Given the description of an element on the screen output the (x, y) to click on. 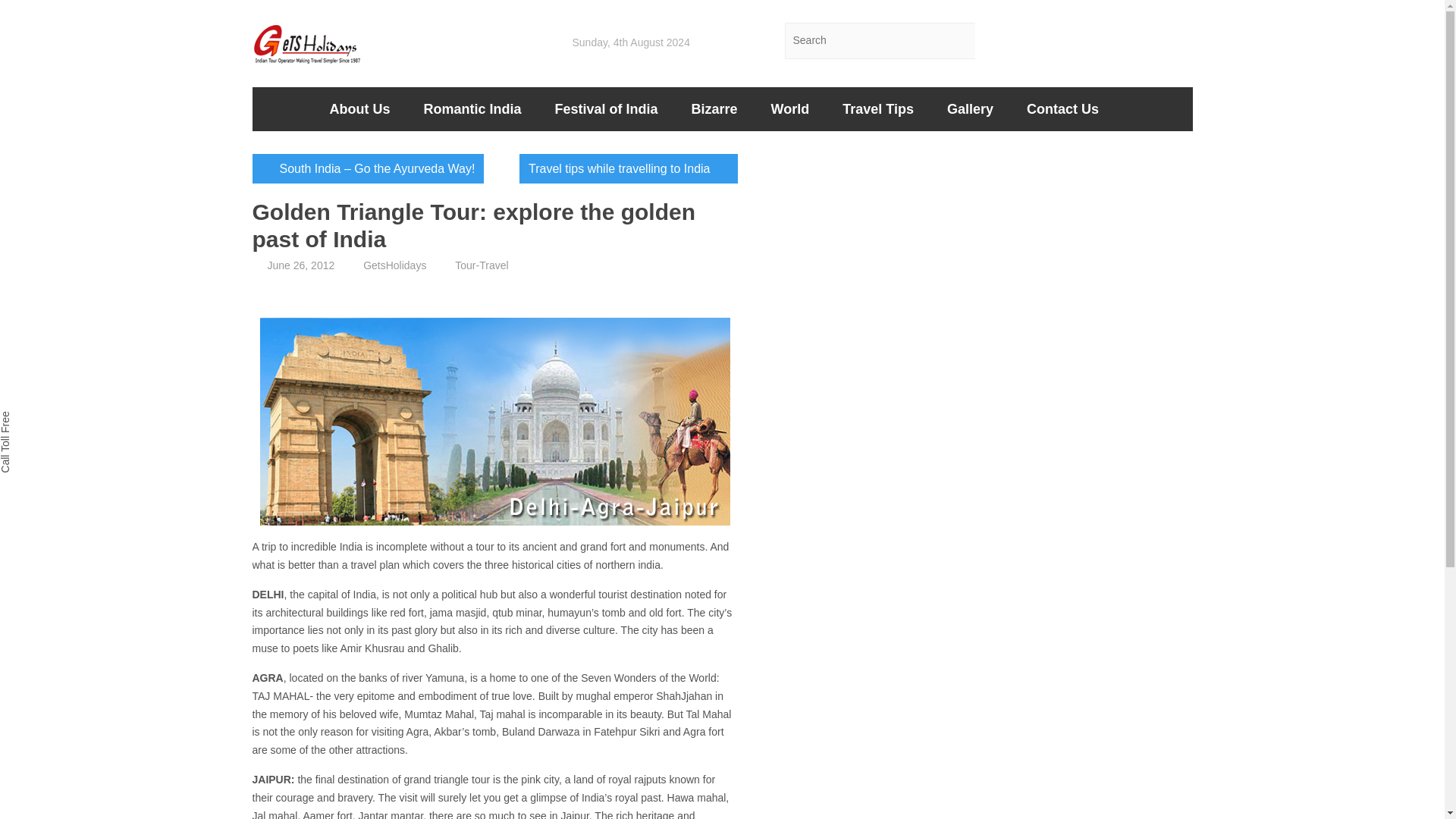
Home (282, 108)
Festival of India (606, 108)
About Us (359, 108)
Contact Us (1062, 108)
Romantic India (471, 108)
Travel Tips (877, 108)
Twitter (1053, 40)
GetsHolidays (394, 265)
Facebook (1093, 40)
World (790, 108)
Search (993, 40)
Gallery (970, 108)
Travel tips while travelling to India (628, 168)
RSS (1174, 40)
Tour-Travel (481, 265)
